Given the description of an element on the screen output the (x, y) to click on. 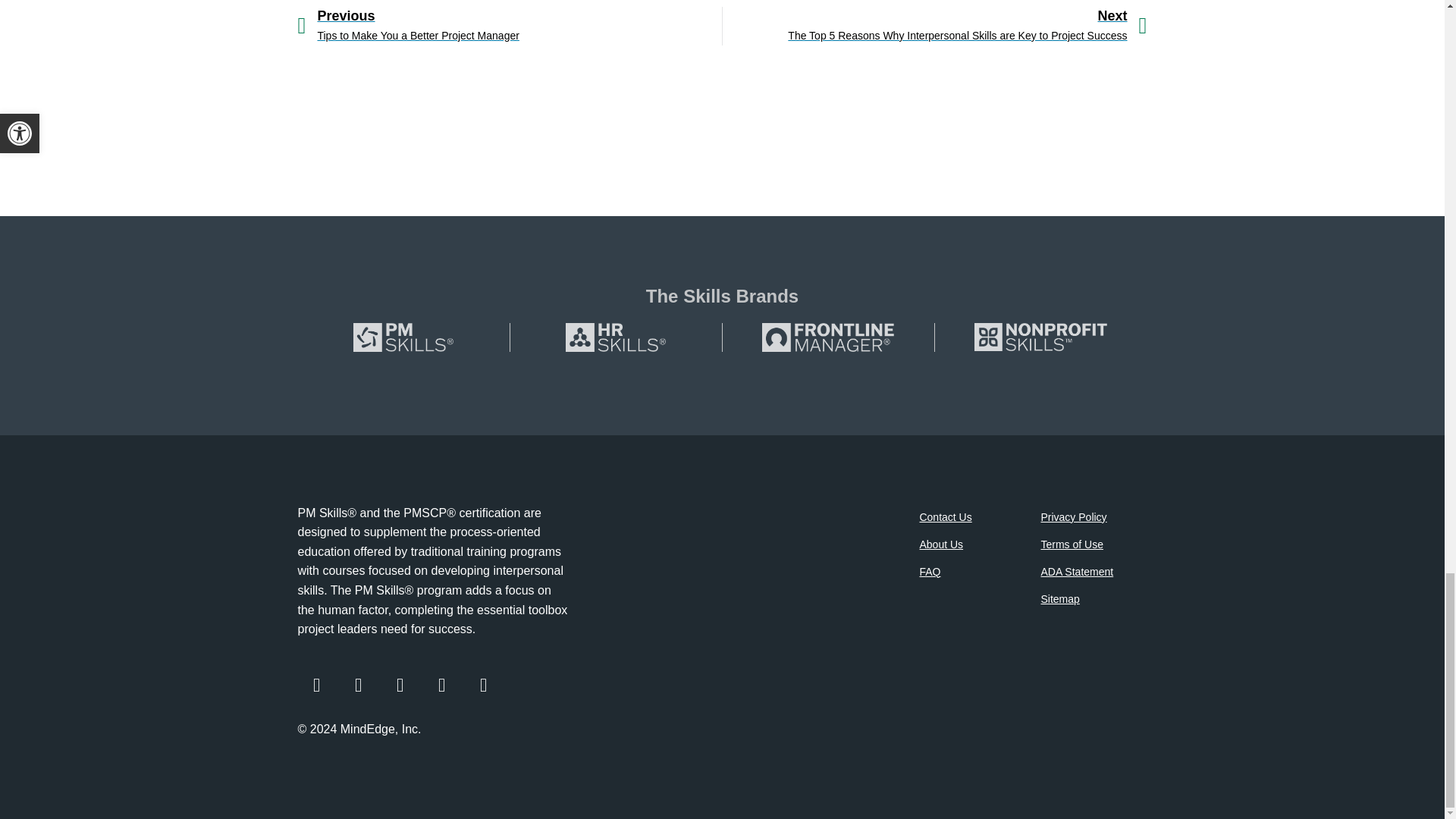
Facebook (315, 685)
Contact Us (964, 516)
About Us (964, 543)
Instagram (399, 685)
Youtube (483, 685)
FAQ (964, 571)
Twitter (358, 685)
Linkedin (442, 685)
